Given the description of an element on the screen output the (x, y) to click on. 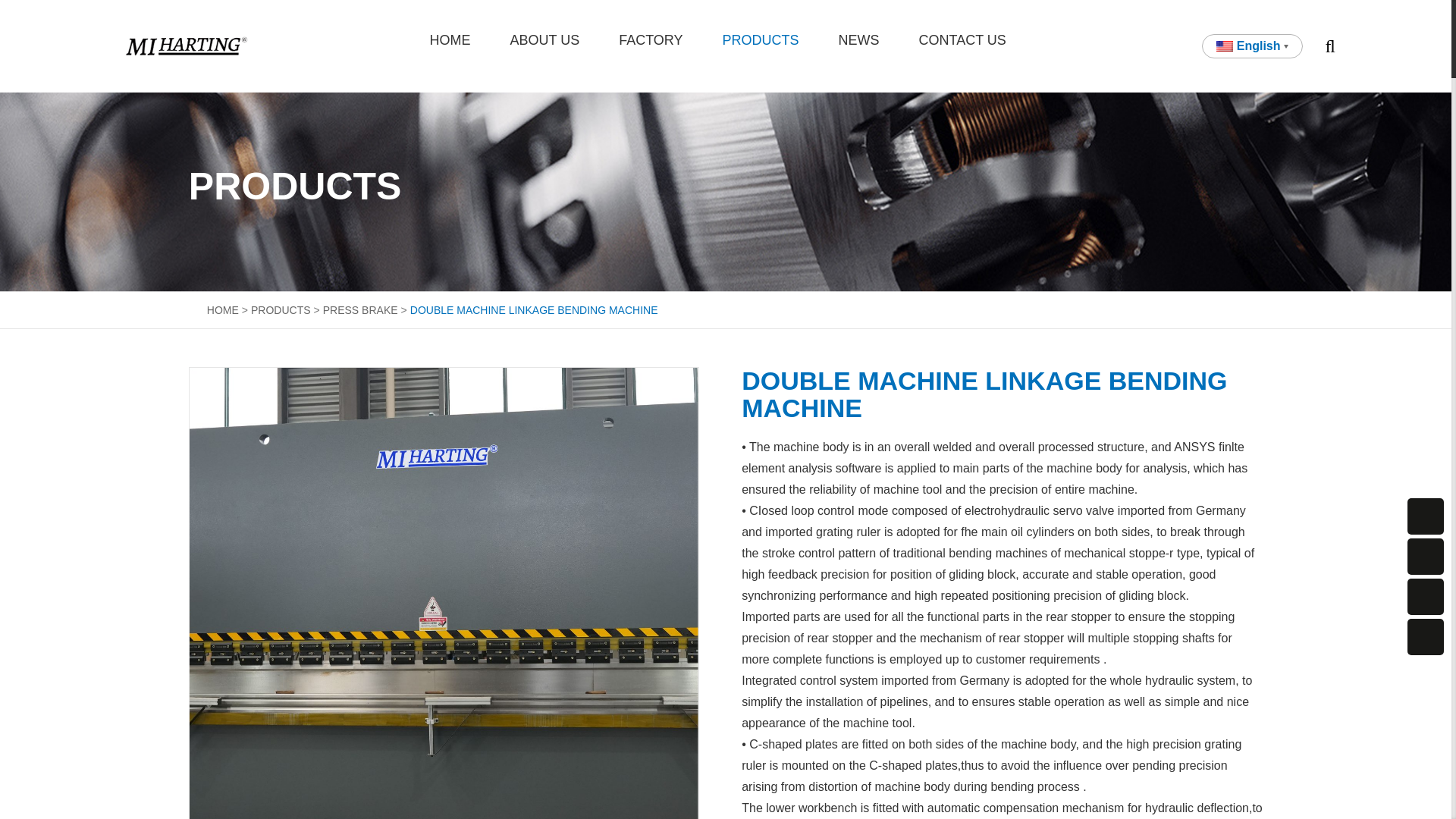
PRESS BRAKE (366, 309)
CONTACT US (962, 40)
DOUBLE MACHINE LINKAGE BENDING MACHINE (534, 309)
HOME (219, 309)
PRODUCTS (759, 40)
PRODUCTS (286, 309)
